Given the description of an element on the screen output the (x, y) to click on. 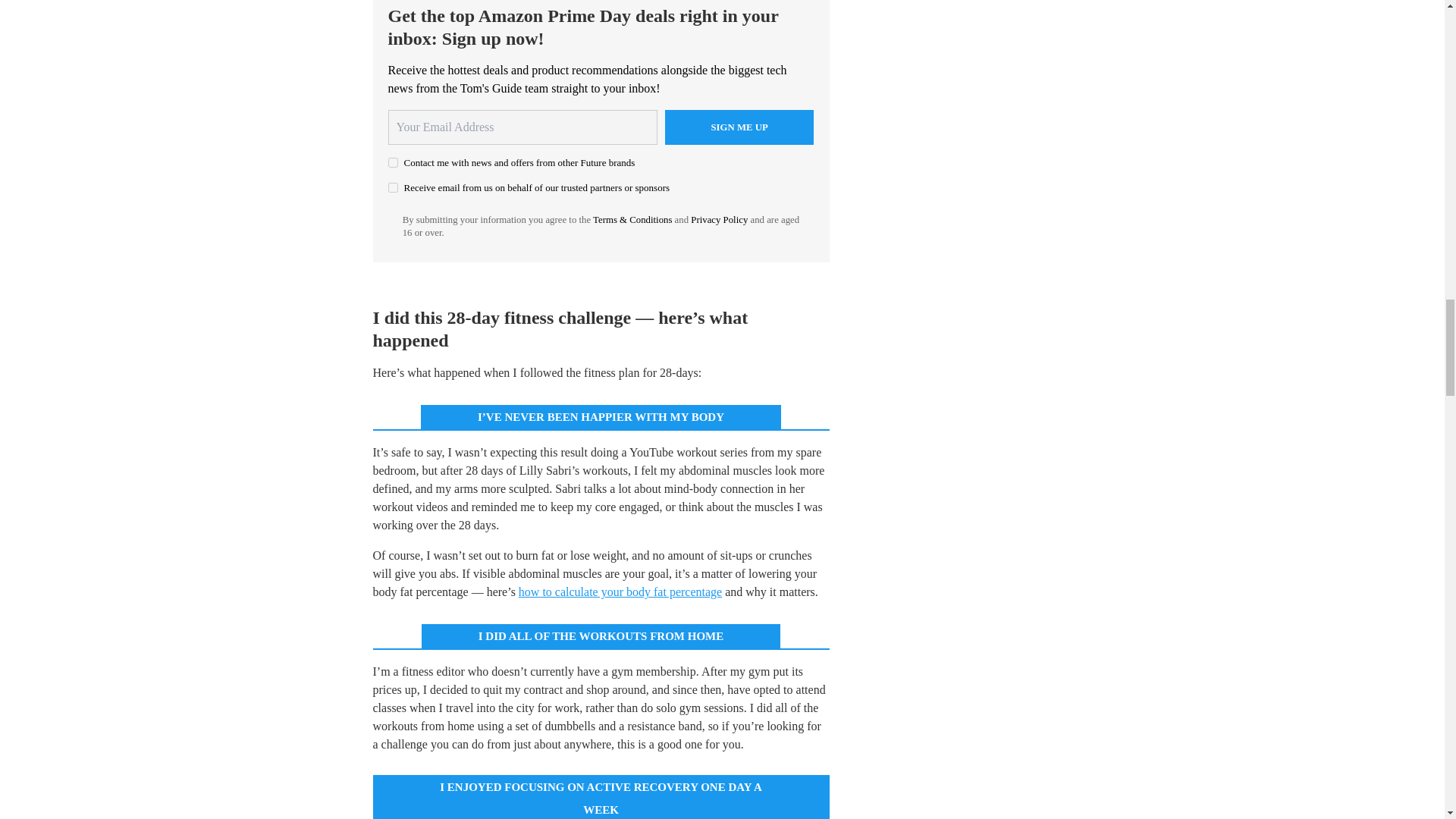
on (392, 162)
Sign me up (739, 126)
on (392, 187)
